Given the description of an element on the screen output the (x, y) to click on. 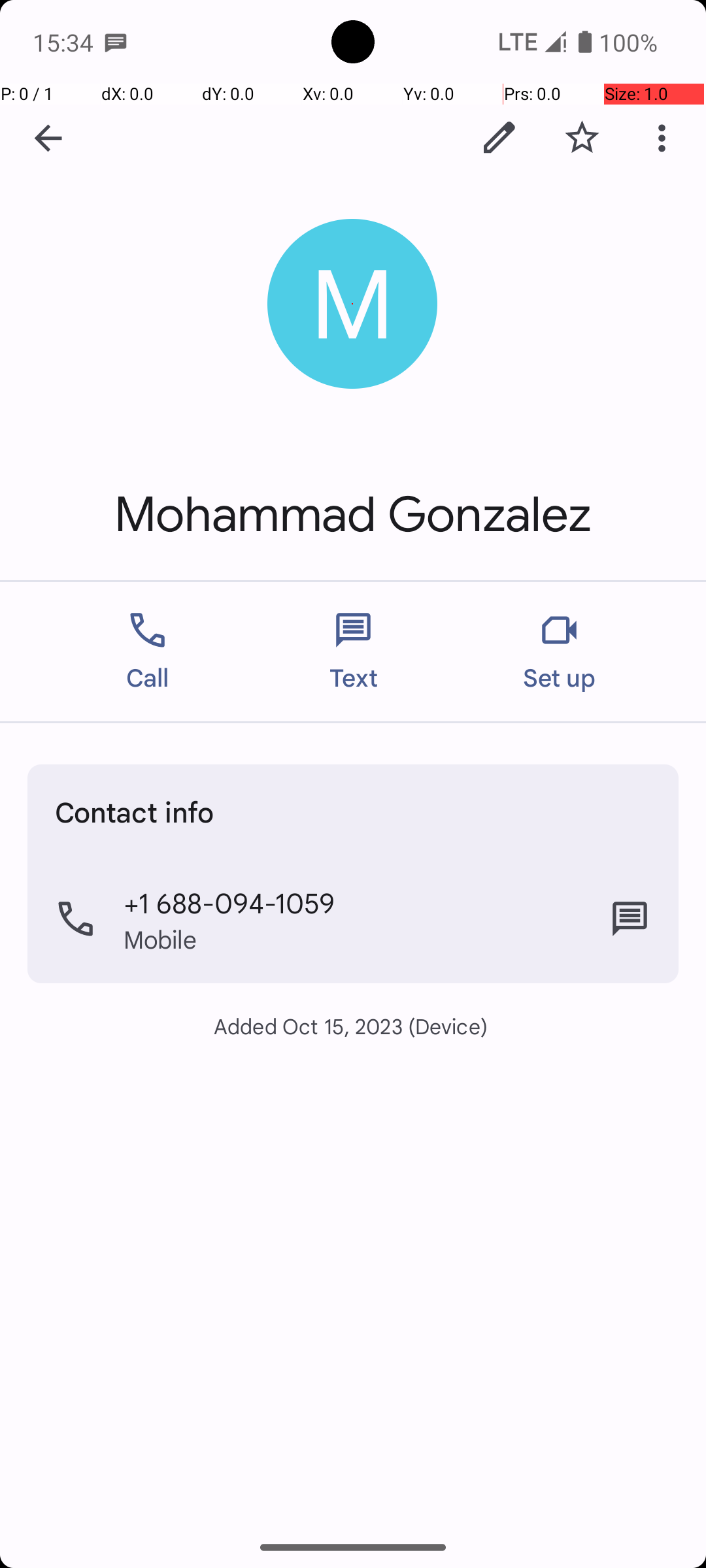
Contact photo Element type: android.widget.ImageView (352, 303)
Set up Element type: android.widget.TextView (559, 651)
Mohammad Gonzalez Element type: android.widget.TextView (352, 514)
Contact info Element type: android.widget.TextView (134, 811)
Call Mobile +1 688-094-1059 Element type: android.widget.RelativeLayout (352, 919)
Added Oct 15, 2023 (Device)  Element type: android.widget.TextView (352, 1025)
+1 688-094-1059 Element type: android.widget.TextView (229, 901)
Text Mobile +1 688-094-1059 Element type: android.widget.Button (629, 919)
